Given the description of an element on the screen output the (x, y) to click on. 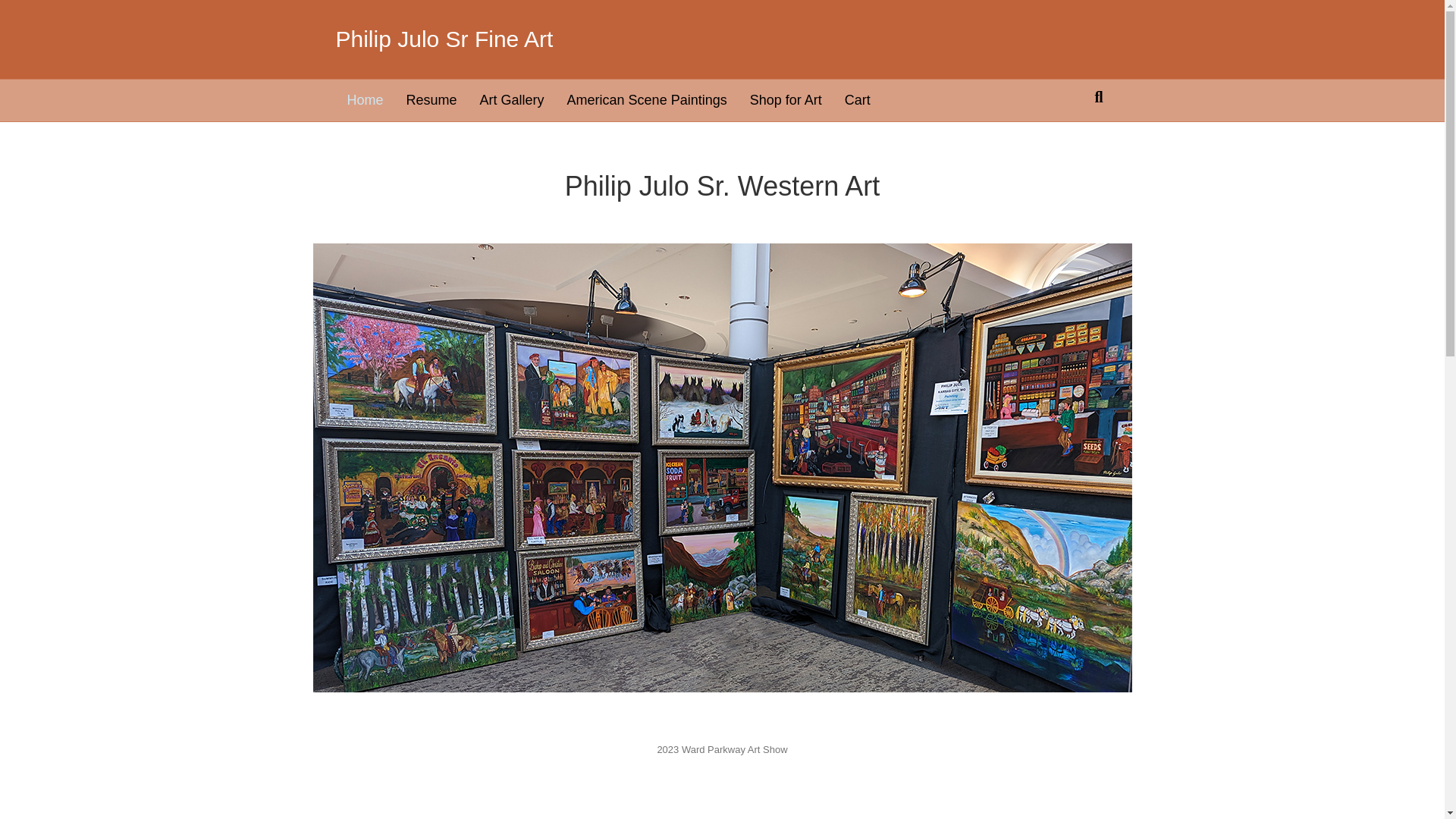
American Scene Paintings (647, 99)
Art Gallery (512, 99)
Home (364, 99)
Philip Julo Sr Fine Art (516, 39)
Resume (431, 99)
Cart (857, 99)
Shop for Art (785, 99)
